Given the description of an element on the screen output the (x, y) to click on. 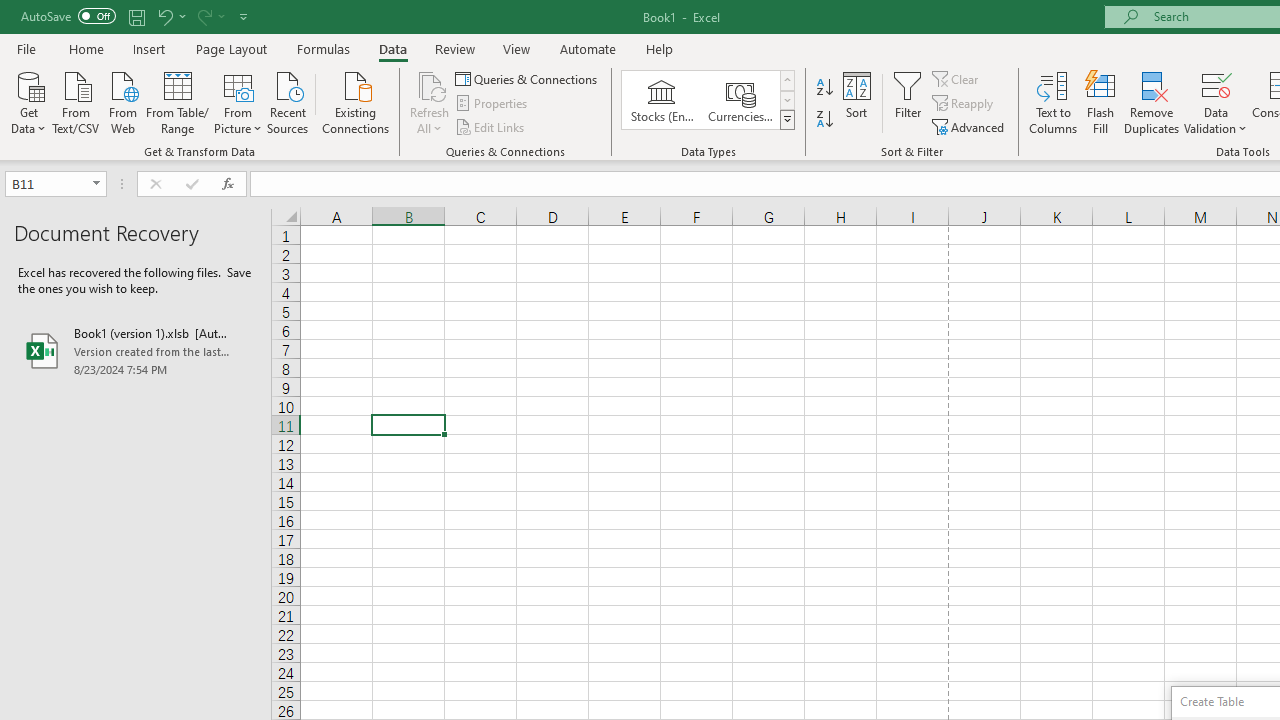
Properties (492, 103)
Sort Z to A (824, 119)
Data Validation... (1215, 102)
Reapply (964, 103)
Name Box (56, 183)
AutomationID: ConvertToLinkedEntity (708, 99)
From Table/Range (177, 101)
File Tab (26, 48)
Edit Links (491, 126)
Data Validation... (1215, 84)
Refresh All (429, 84)
Sort A to Z (824, 87)
Get Data (28, 101)
From Text/CSV (75, 101)
Row Down (786, 100)
